Given the description of an element on the screen output the (x, y) to click on. 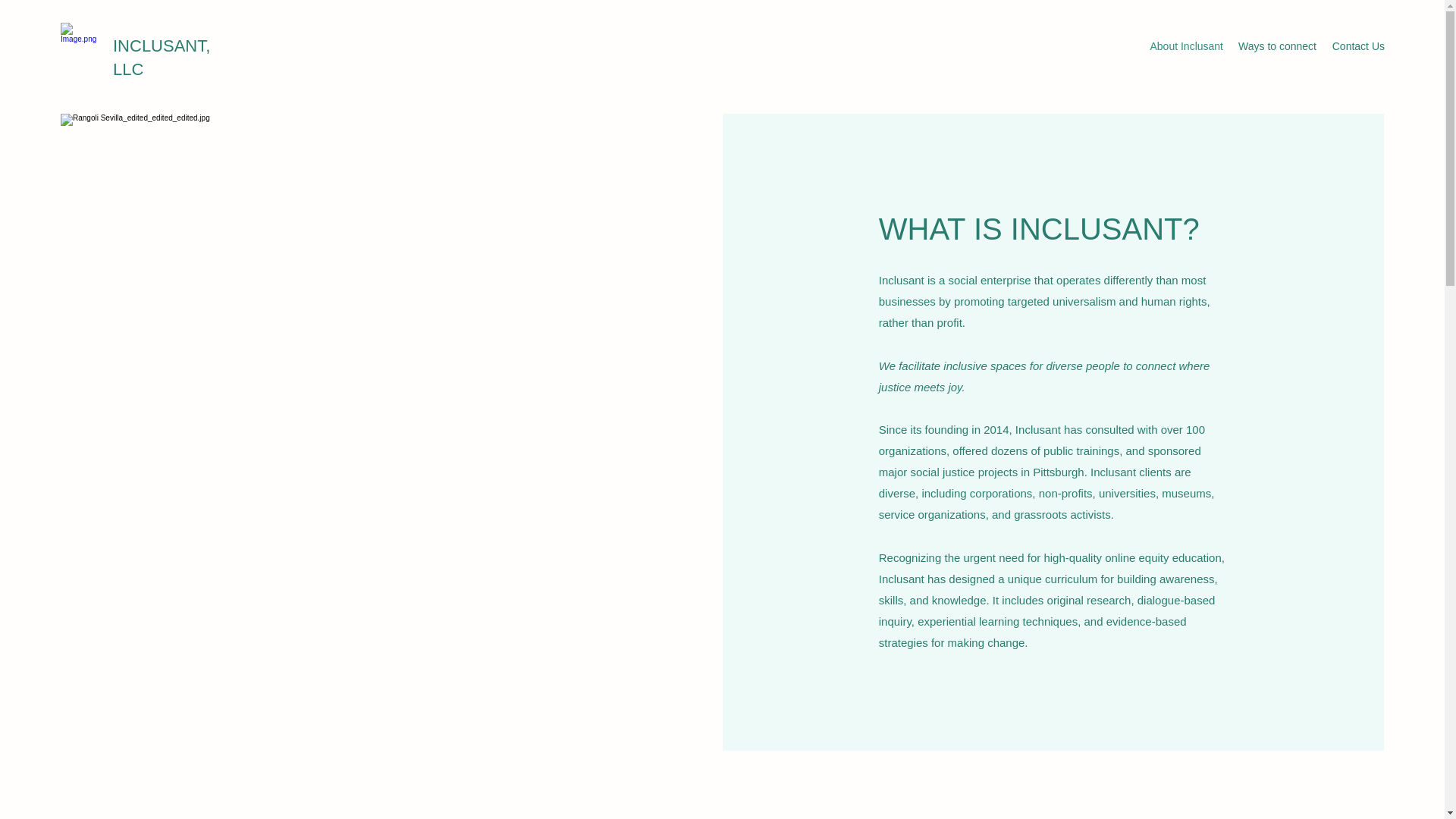
About Inclusant (1185, 46)
Contact Us (1357, 46)
Ways to connect (1276, 46)
